Given the description of an element on the screen output the (x, y) to click on. 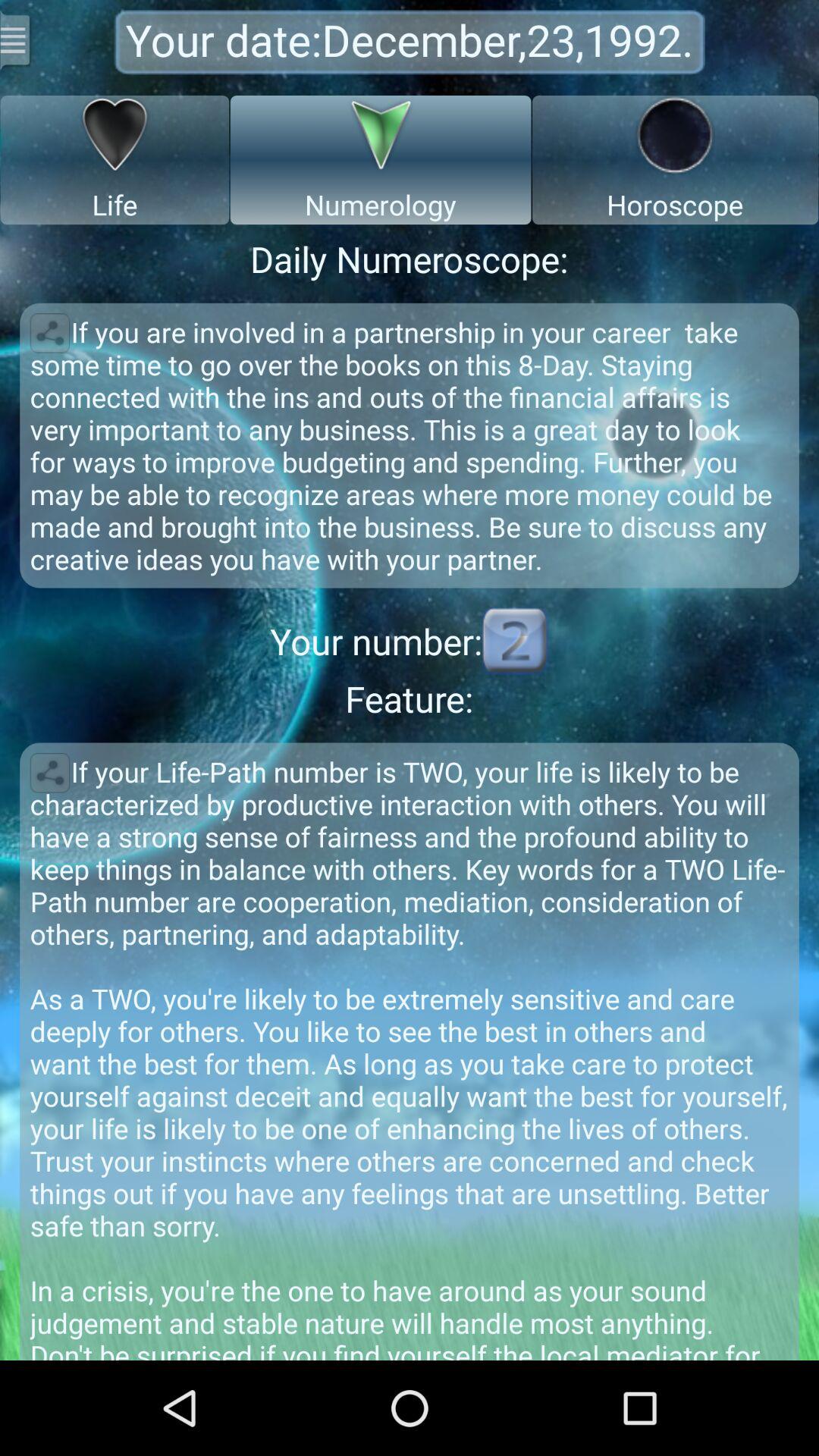
share (49, 772)
